Given the description of an element on the screen output the (x, y) to click on. 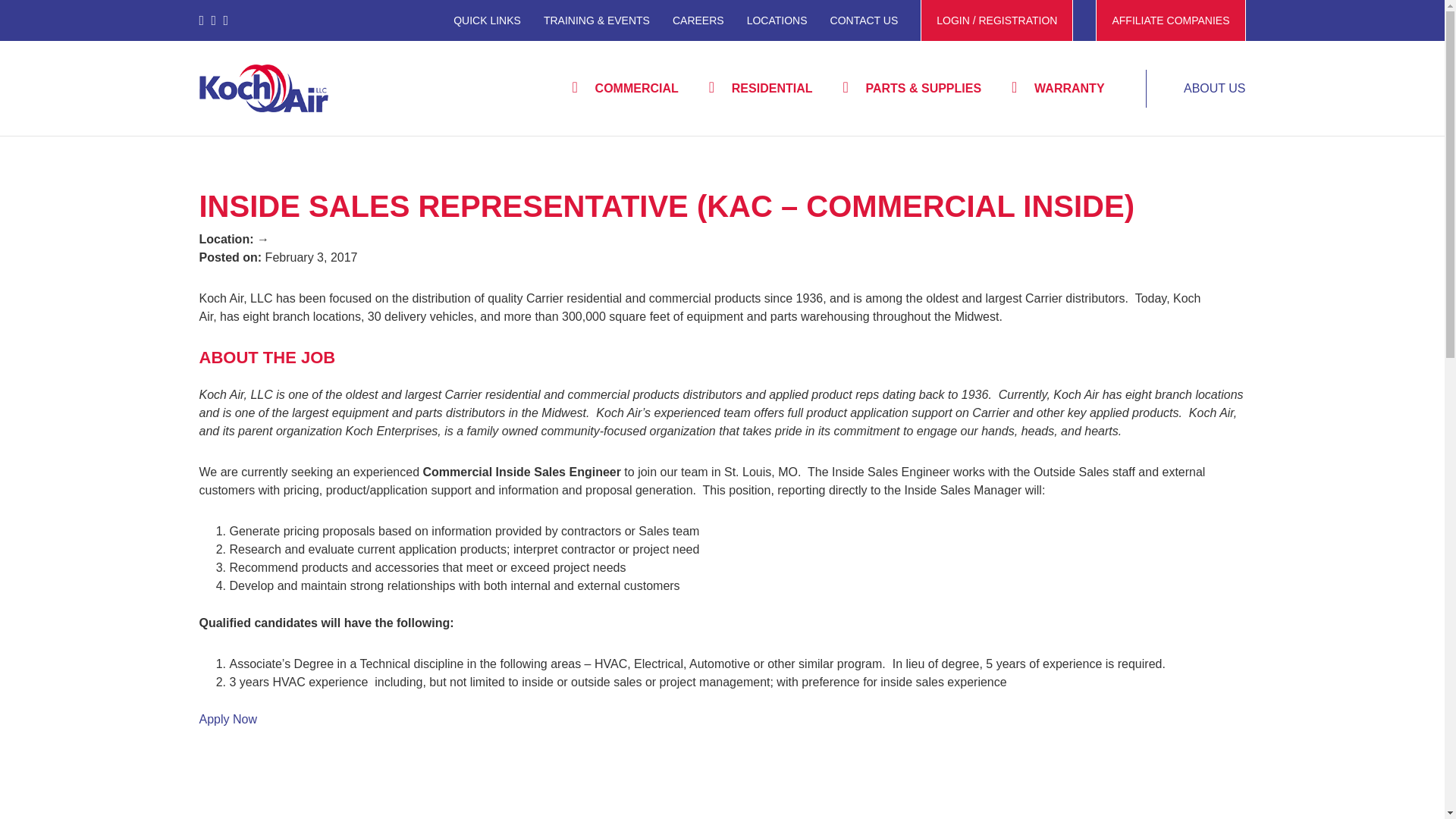
CONTACT US (863, 20)
RESIDENTIAL (761, 87)
QUICK LINKS (486, 20)
COMMERCIAL (625, 87)
CAREERS (697, 20)
WARRANTY (1057, 87)
AFFILIATE COMPANIES (1170, 20)
LOCATIONS (777, 20)
